Given the description of an element on the screen output the (x, y) to click on. 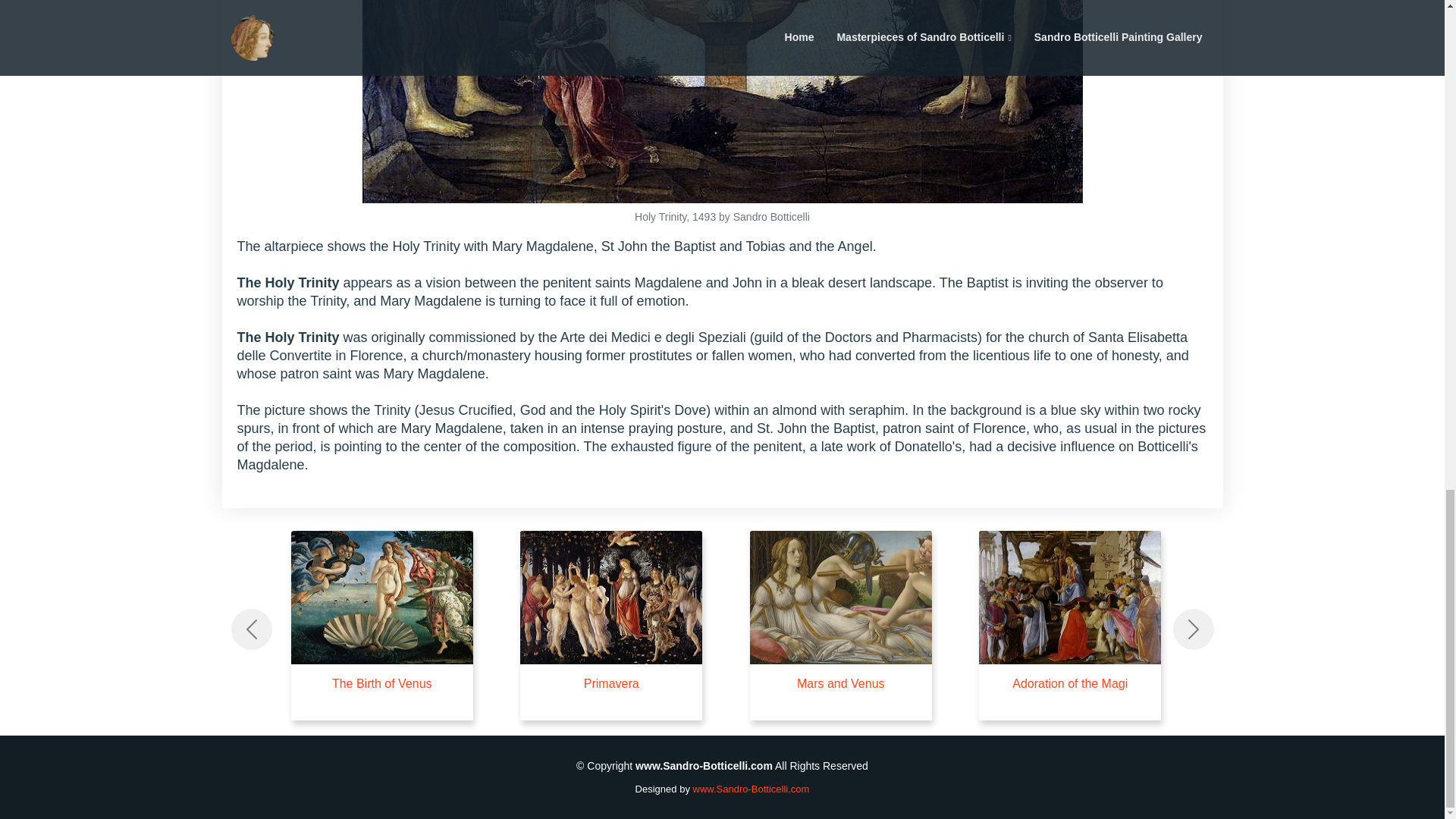
Primavera (611, 683)
The Birth of Venus (381, 683)
Adoration of the Magi (1069, 683)
Mars and Venus (840, 683)
